Given the description of an element on the screen output the (x, y) to click on. 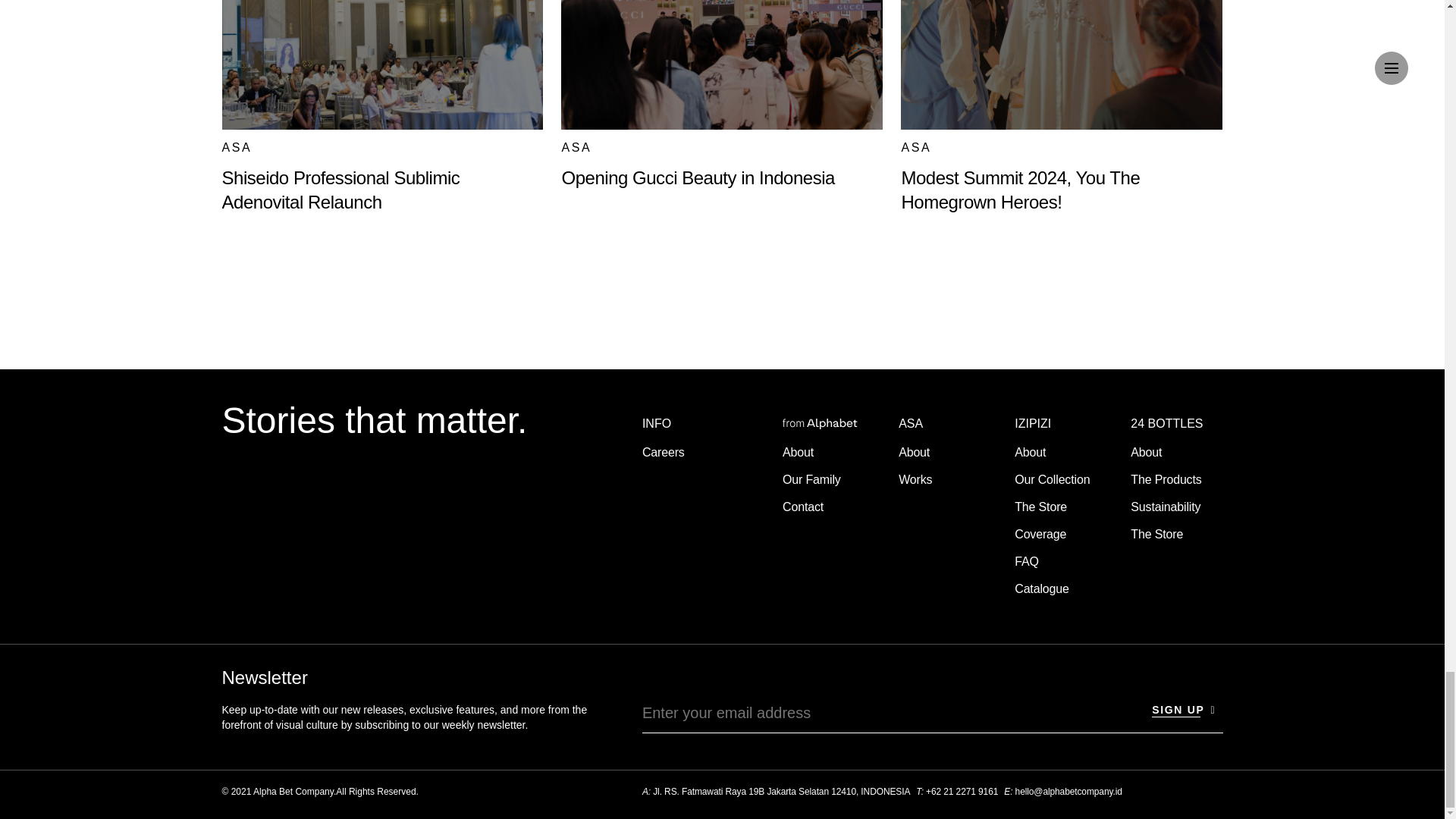
Our Family (812, 479)
About (798, 451)
Our Collection (1051, 479)
Contact (803, 506)
Works (914, 479)
Careers (663, 451)
About (1029, 451)
The Store (1040, 506)
About (914, 451)
